Given the description of an element on the screen output the (x, y) to click on. 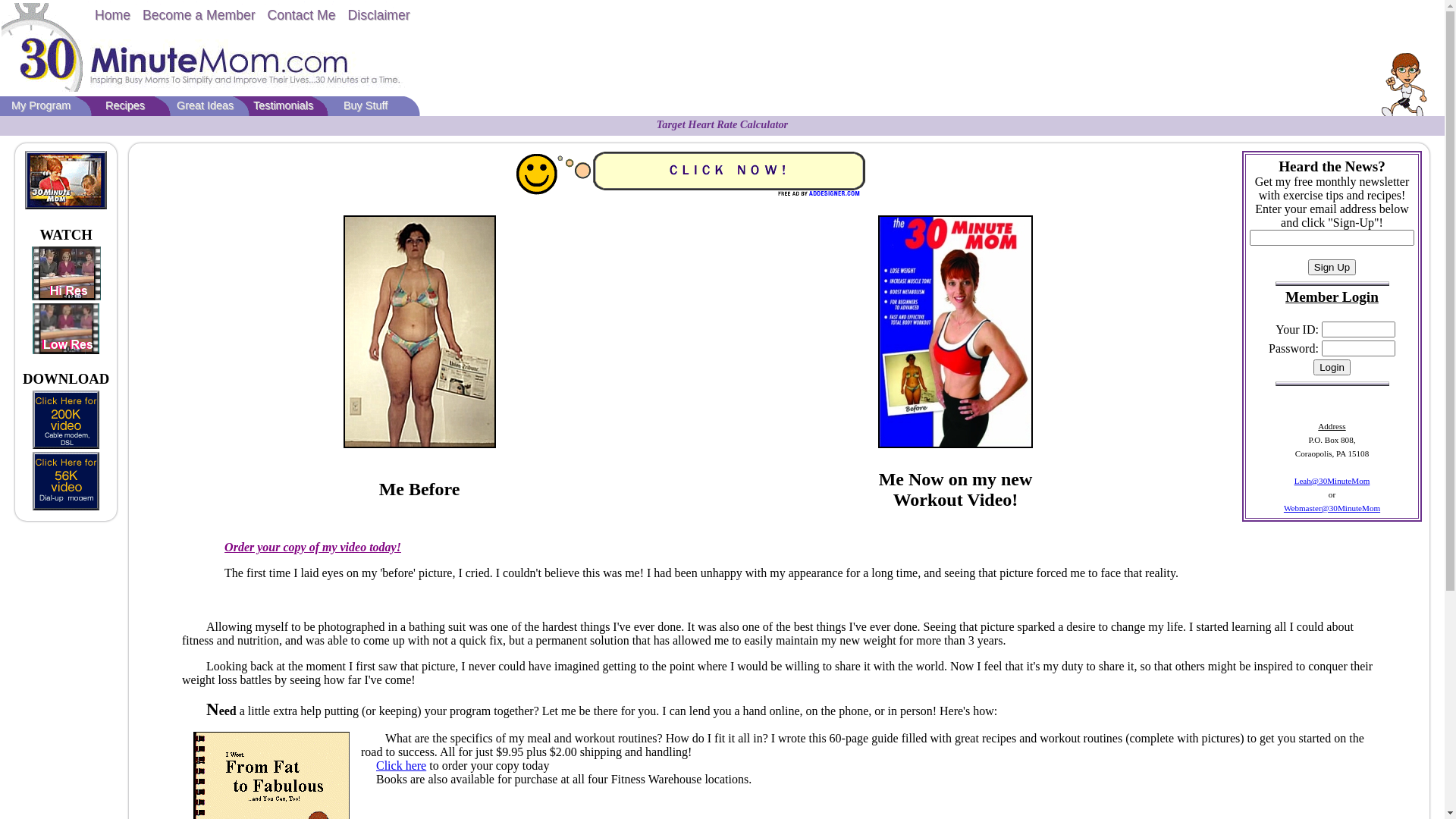
Webmaster@30MinuteMom Element type: text (1331, 507)
Click here Element type: text (401, 765)
Contact Me Element type: text (301, 14)
Login Element type: text (1331, 367)
Leah@30MinuteMom Element type: text (1332, 480)
My Program Element type: text (40, 105)
Order your copy of my video today! Element type: text (312, 546)
Home Element type: text (112, 14)
Testimonials Element type: text (283, 105)
Great Ideas Element type: text (204, 105)
Buy Stuff Element type: text (365, 105)
Recipes Element type: text (124, 105)
Disclaimer Element type: text (379, 14)
Become a Member Element type: text (198, 14)
Sign Up Element type: text (1331, 267)
Target Heart Rate Calculator Element type: text (721, 124)
